Given the description of an element on the screen output the (x, y) to click on. 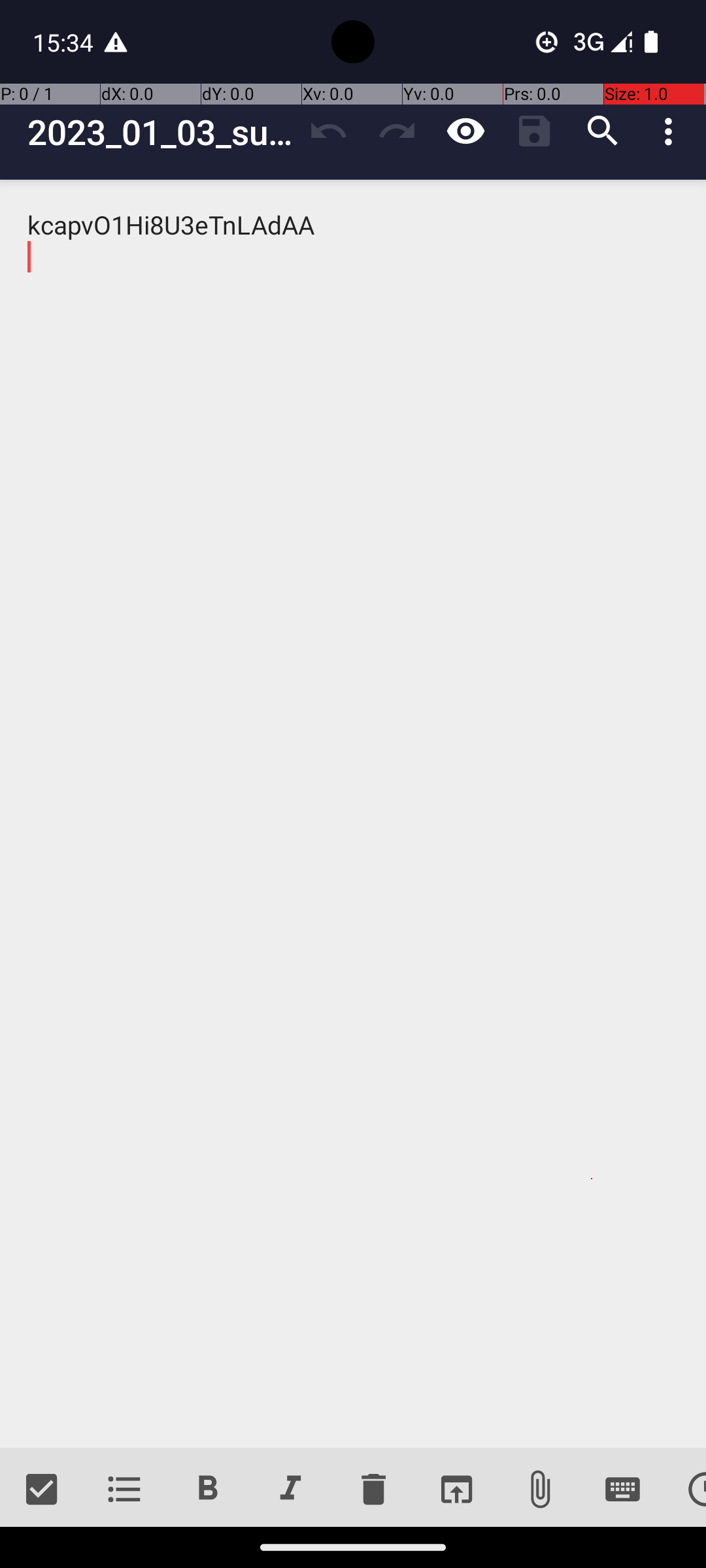
2023_01_03_summer_vacation_plans Element type: android.widget.TextView (160, 131)
kcapvO1Hi8U3eTnLAdAA
 Element type: android.widget.EditText (353, 813)
